Given the description of an element on the screen output the (x, y) to click on. 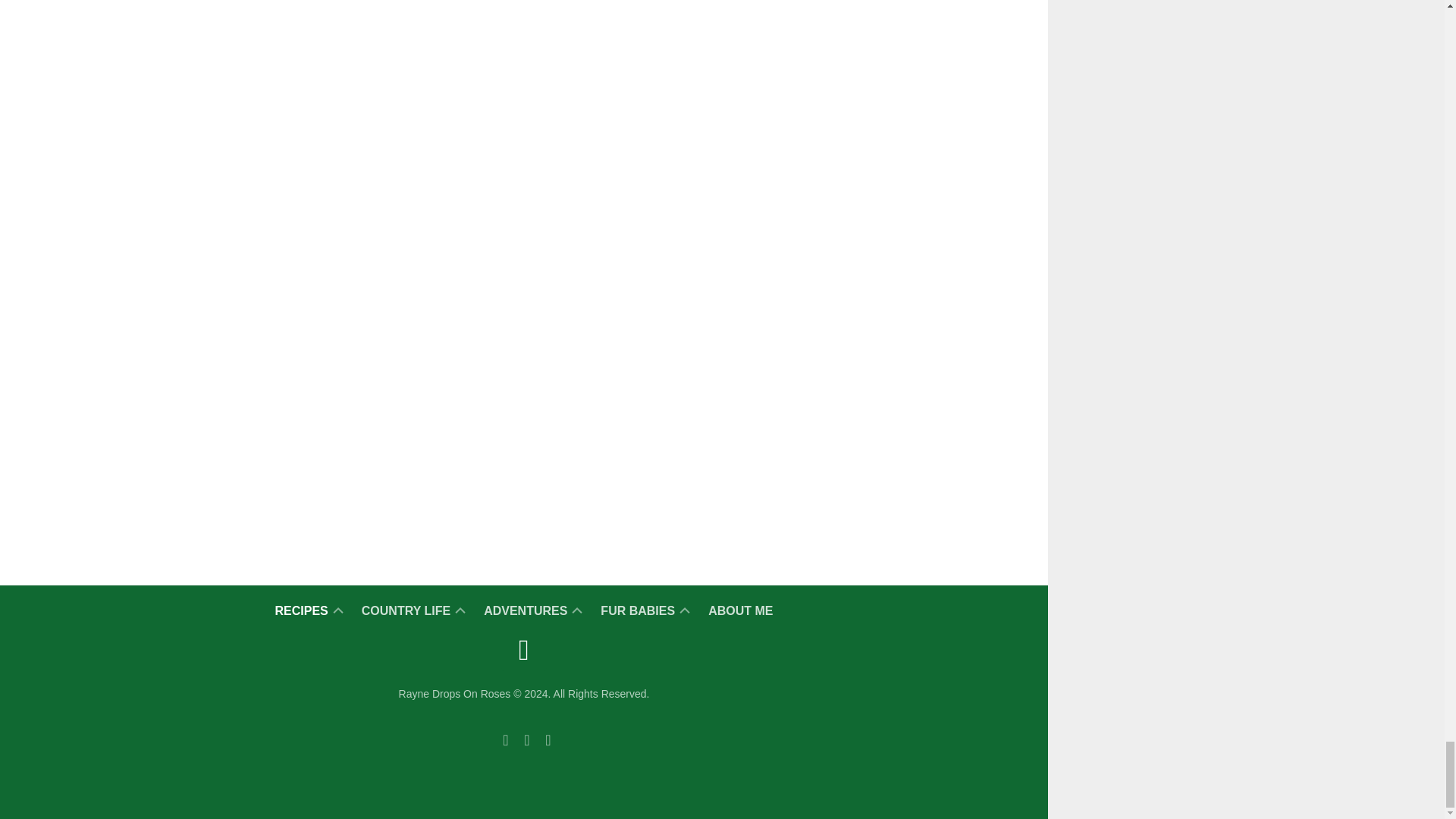
Instagram (548, 739)
Pinterest (505, 739)
Twitter (526, 739)
